Given the description of an element on the screen output the (x, y) to click on. 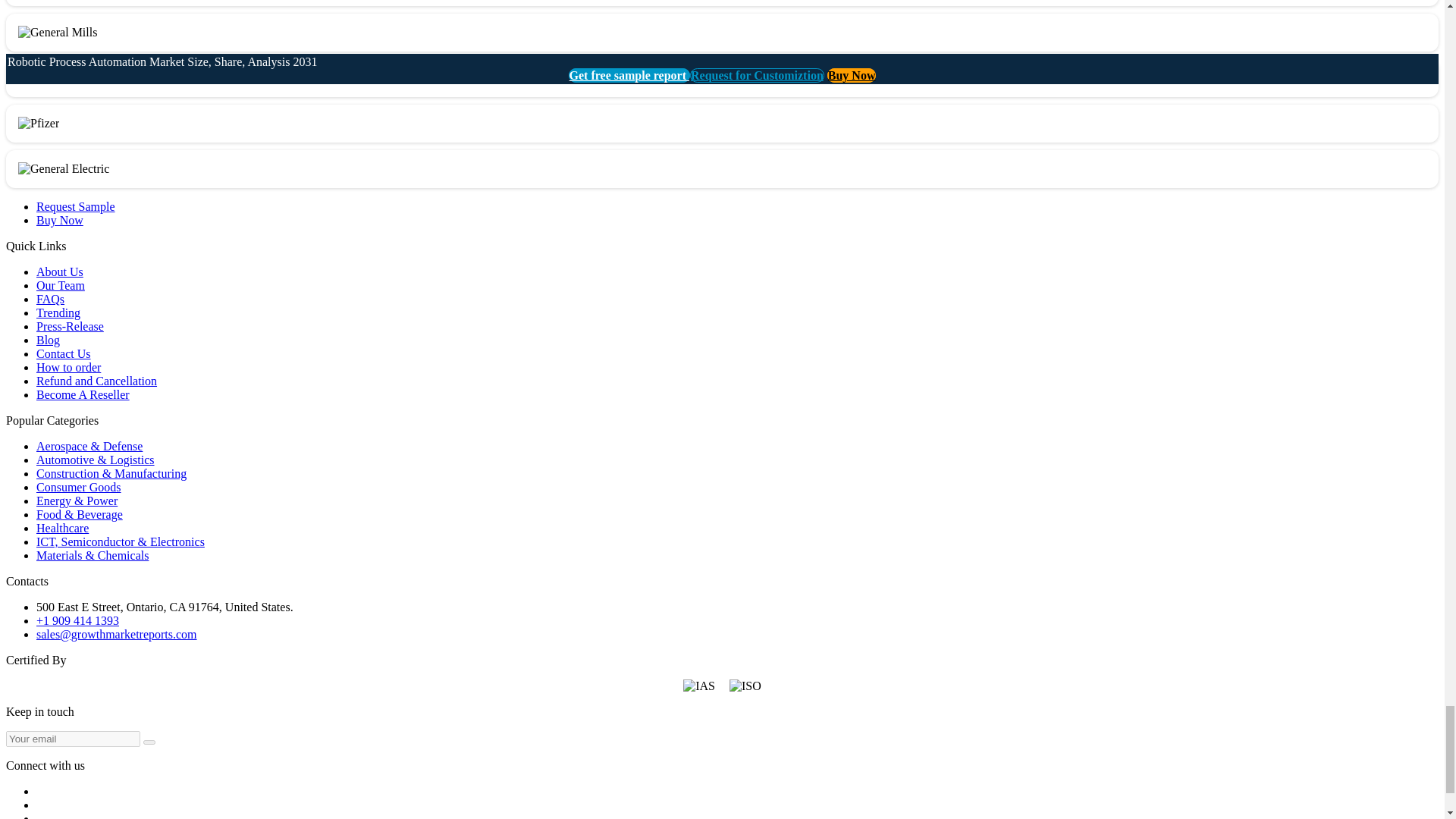
General Mills (57, 32)
General Electric (63, 169)
Deloitte (43, 78)
Our Team (60, 285)
Pfizer (38, 123)
